Given the description of an element on the screen output the (x, y) to click on. 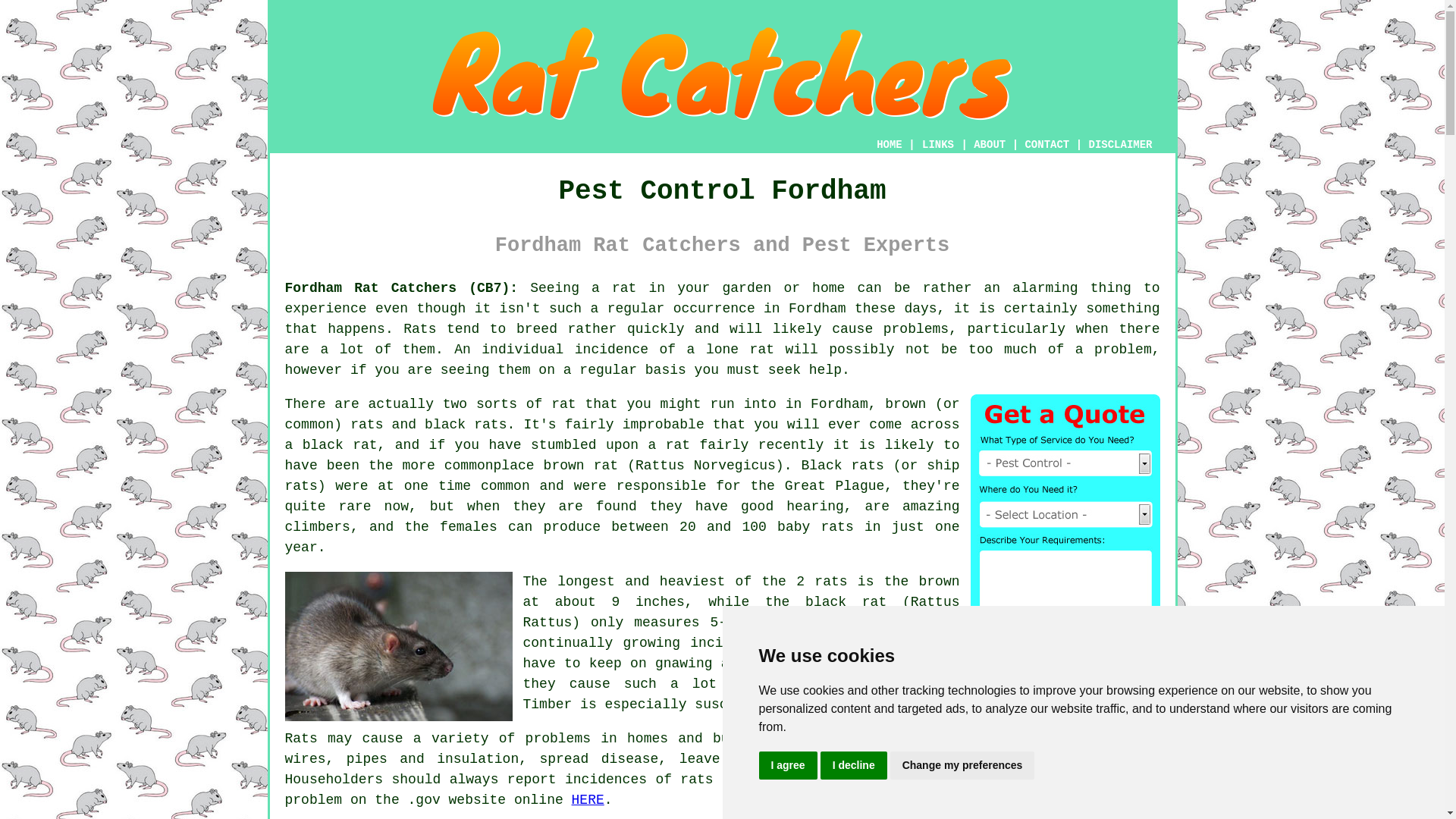
I agree (787, 765)
Rat Catchers Fordham (721, 73)
I decline (853, 765)
Change my preferences (962, 765)
HOME (889, 144)
LINKS (938, 144)
